Given the description of an element on the screen output the (x, y) to click on. 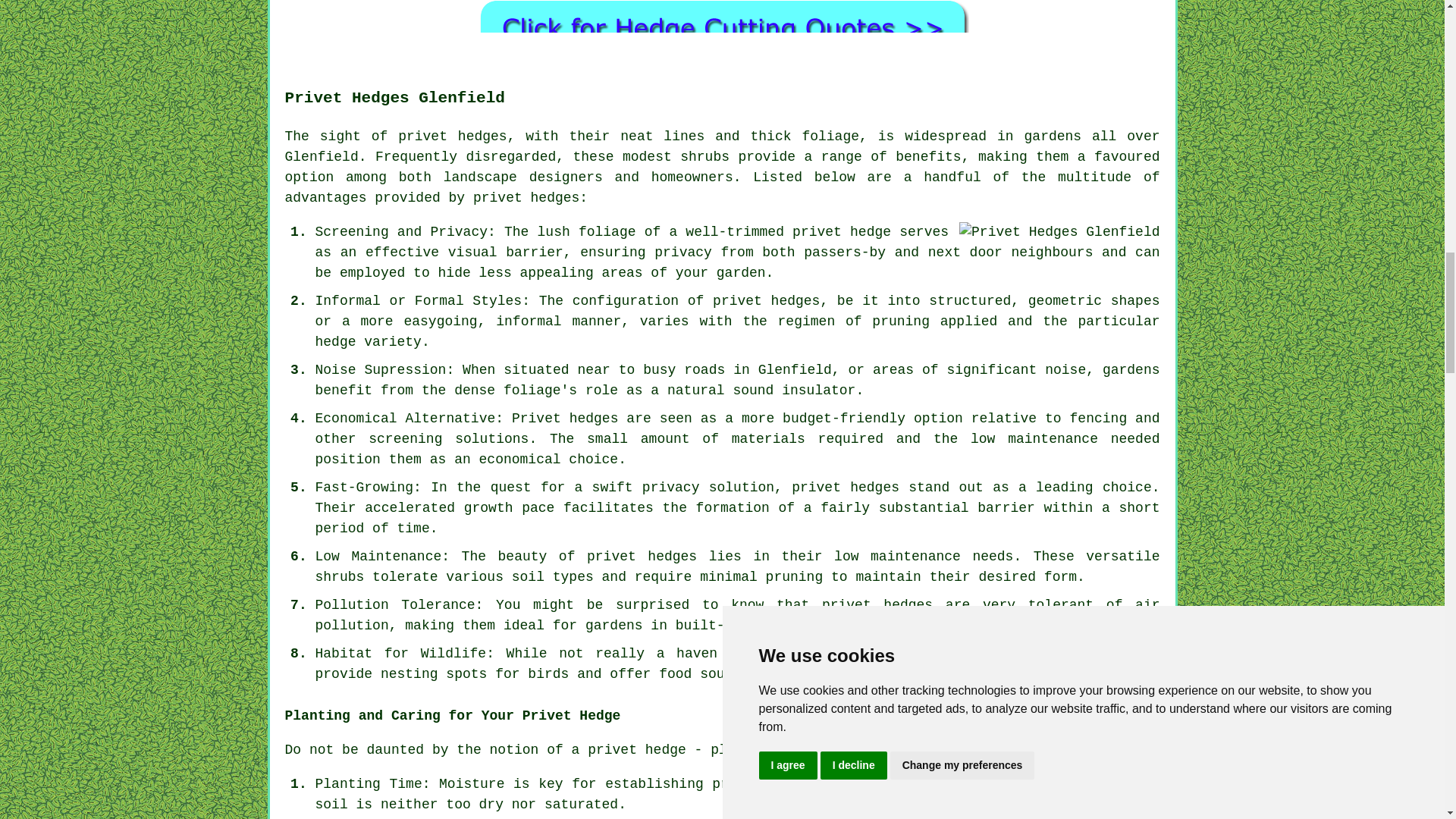
Privet Hedges Glenfield (1058, 231)
hedges (482, 136)
a privet hedge (628, 749)
